Given the description of an element on the screen output the (x, y) to click on. 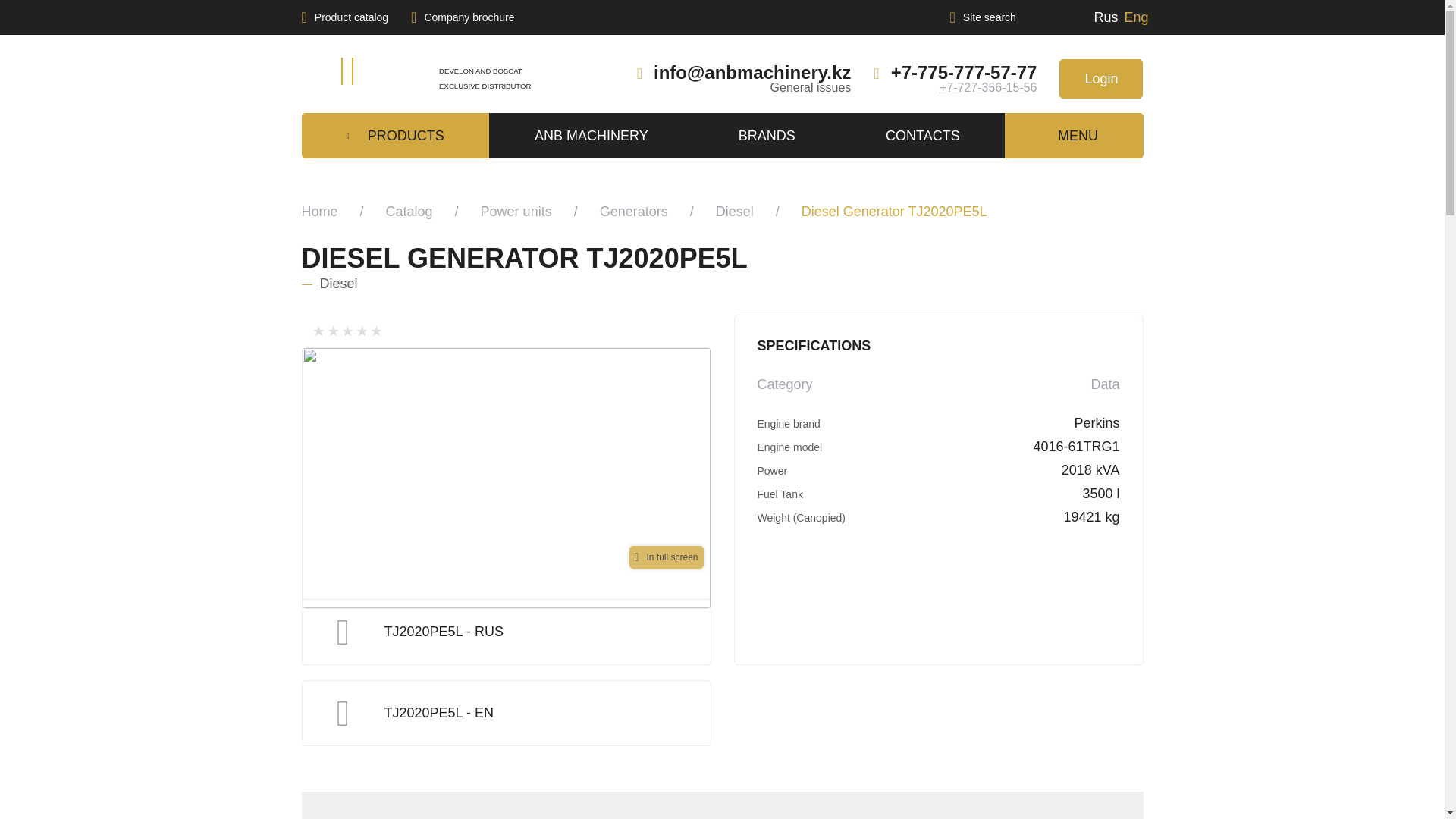
Login (1100, 78)
Rus (1106, 17)
Company brochure (461, 17)
PRODUCTS (395, 135)
General issues (810, 87)
Eng (1136, 17)
Product catalog (344, 17)
